Given the description of an element on the screen output the (x, y) to click on. 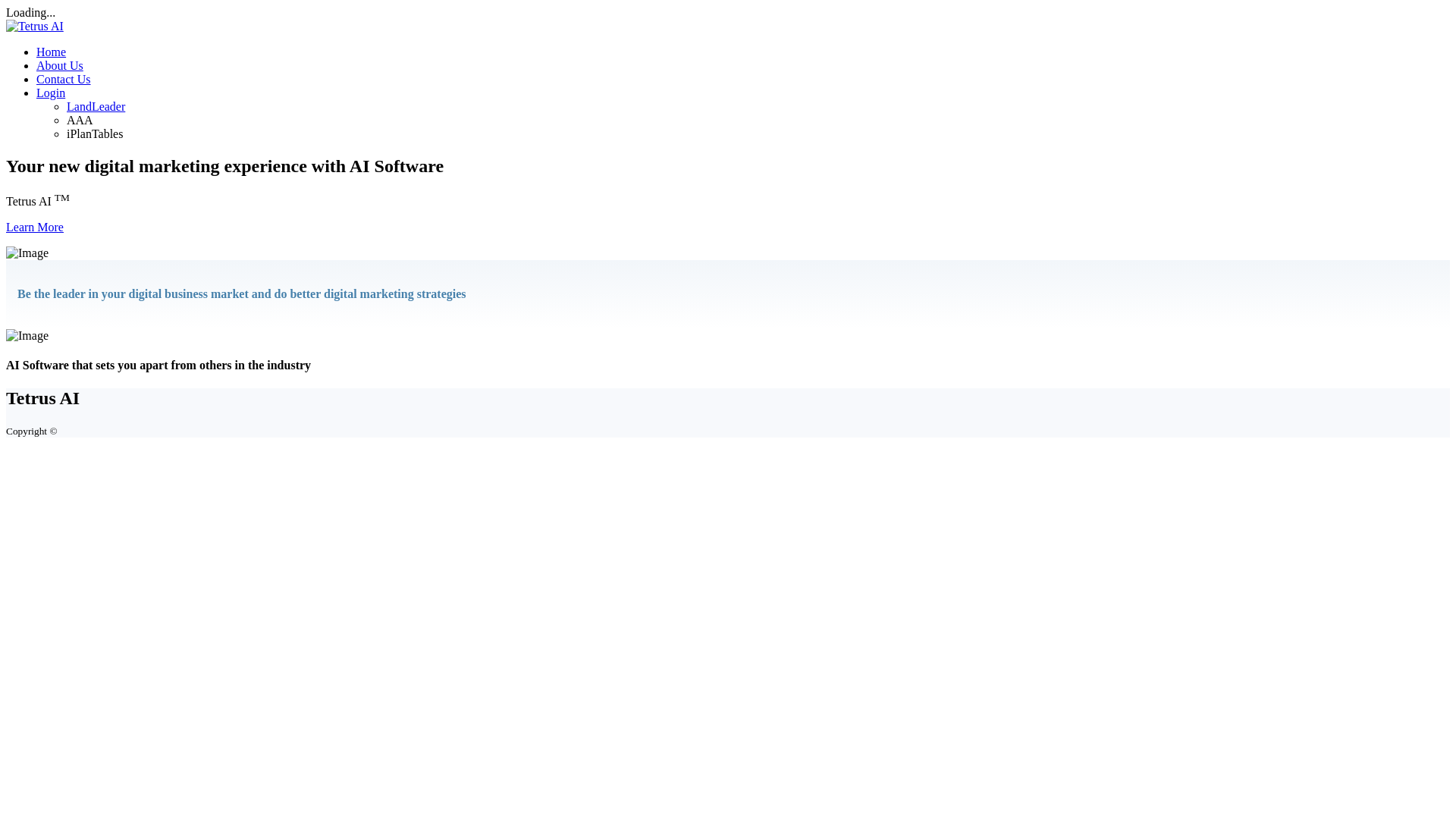
About Us (59, 65)
AAA (79, 119)
Login (50, 92)
iPlanTables (94, 133)
LandLeader (95, 106)
Learn More (34, 226)
Contact Us (63, 78)
Home (50, 51)
